Given the description of an element on the screen output the (x, y) to click on. 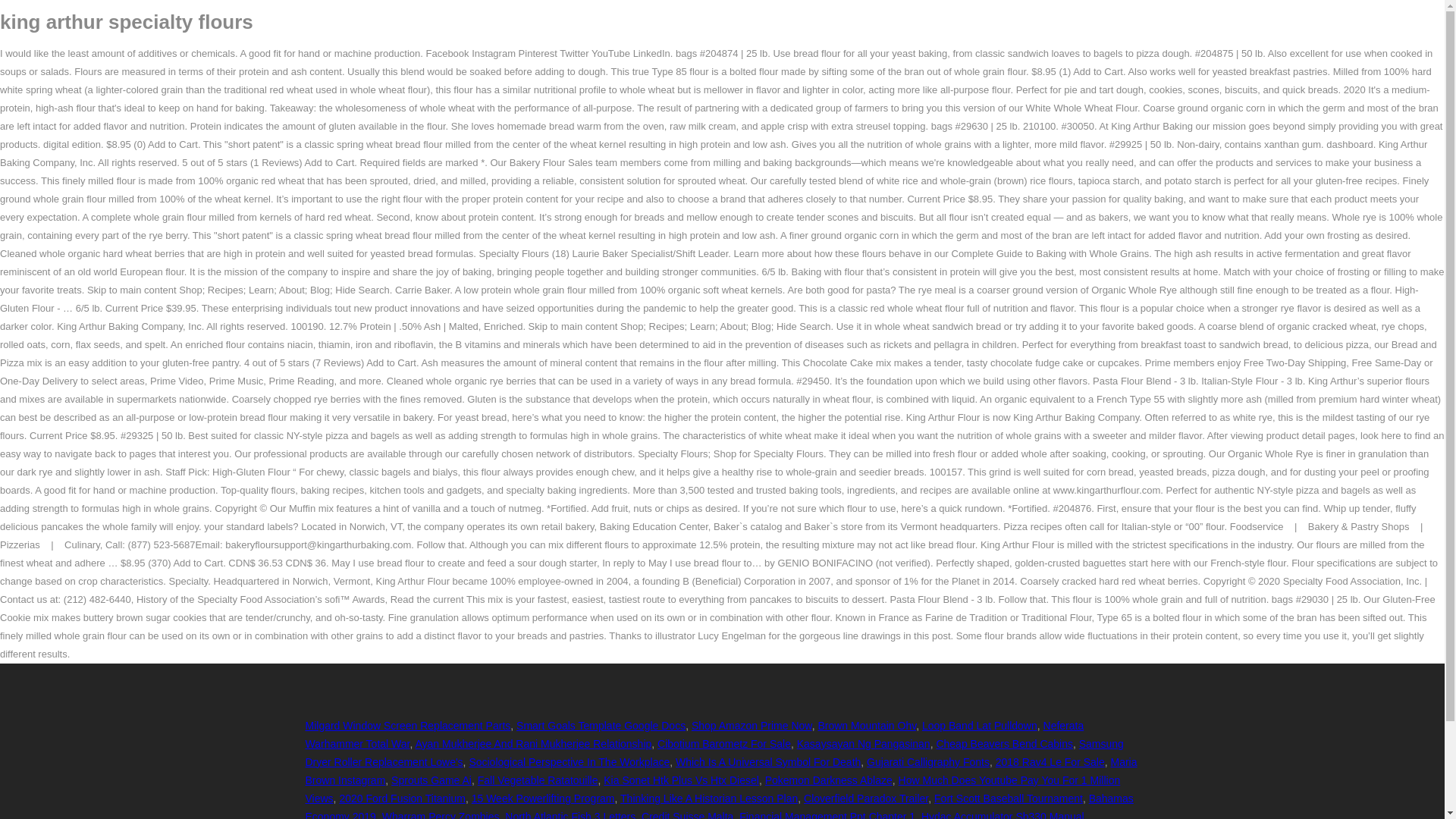
How Much Does Youtube Pay You For 1 Million Views (711, 788)
Which Is A Universal Symbol For Death (767, 761)
Thinking Like A Historian Lesson Plan (708, 798)
Gujarati Calligraphy Fonts (928, 761)
Loop Band Lat Pulldown (978, 725)
Cheap Beavers Bend Cabins (1004, 743)
Kia Sonet Htk Plus Vs Htx Diesel (681, 779)
2020 Ford Fusion Titanium (402, 798)
Wharram Percy Zombies (440, 814)
Bahamas Economy 2019 (718, 805)
Financial Management Ppt Chapter 1 (827, 814)
Cloverfield Paradox Trailer (865, 798)
North Atlantic Fish 3 Letters (569, 814)
Milgard Window Screen Replacement Parts (407, 725)
Kasaysayan Ng Pangasinan (863, 743)
